Given the description of an element on the screen output the (x, y) to click on. 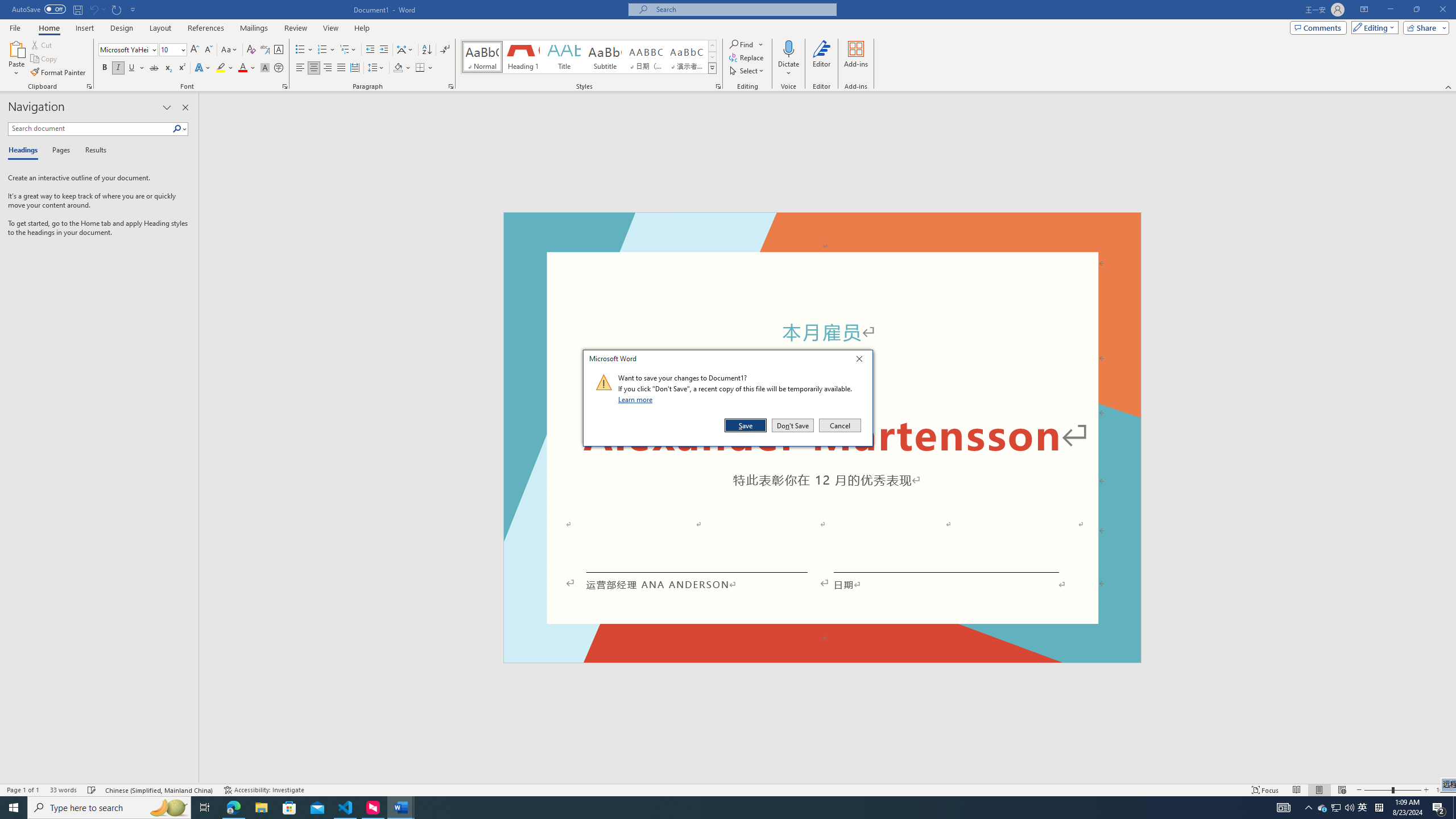
Pages (59, 150)
Borders (419, 67)
Numbering (326, 49)
Editor (821, 58)
Dictate (788, 58)
Class: MsoCommandBar (728, 789)
View (330, 28)
Bold (104, 67)
Bullets (300, 49)
Underline (136, 67)
Increase Indent (383, 49)
Help (361, 28)
